Given the description of an element on the screen output the (x, y) to click on. 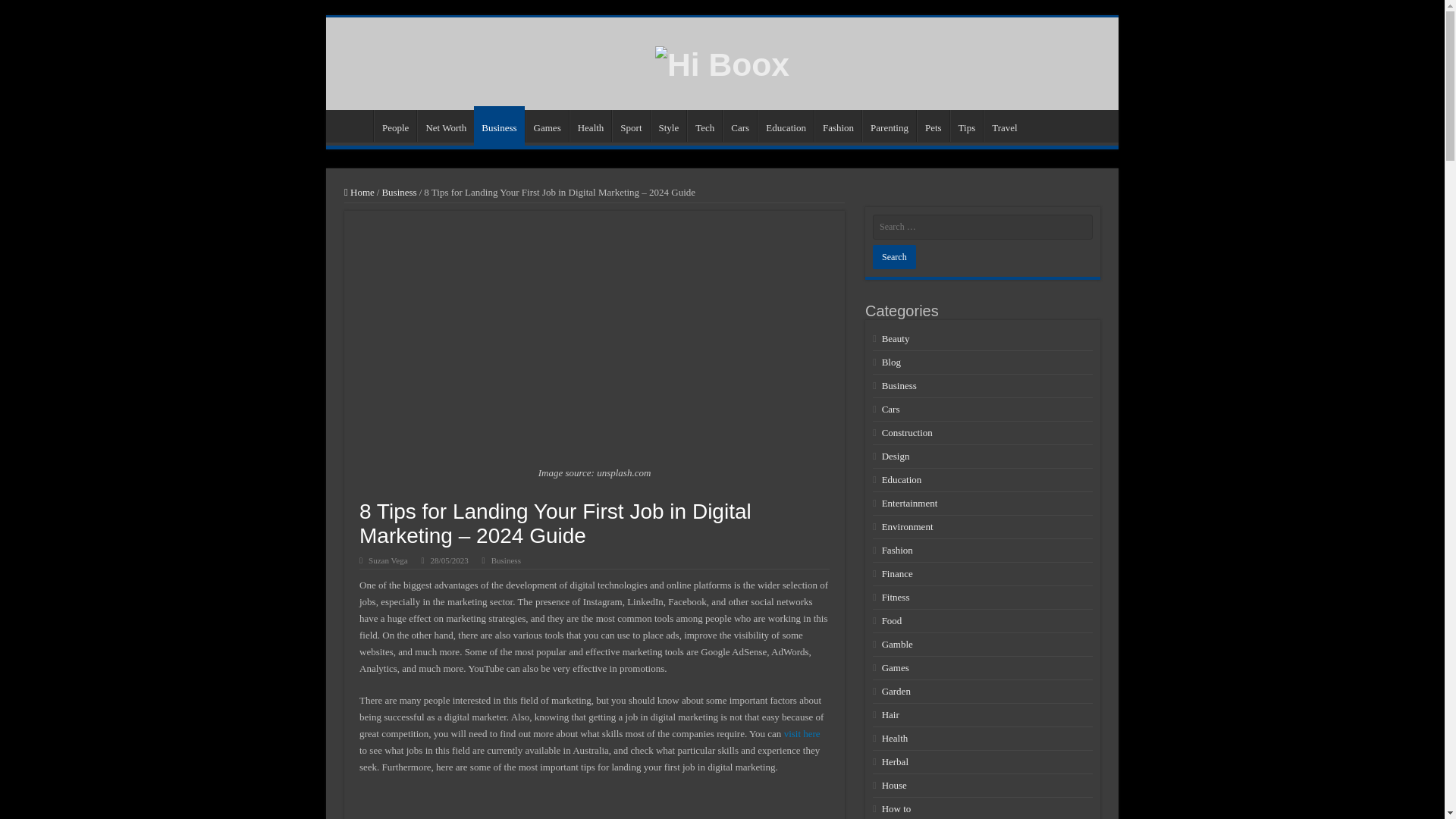
Home (352, 125)
Business (506, 560)
Home (358, 192)
People (395, 125)
Education (785, 125)
Style (668, 125)
Net Worth (445, 125)
Tech (704, 125)
Hi Boox (722, 62)
Business (398, 192)
